Given the description of an element on the screen output the (x, y) to click on. 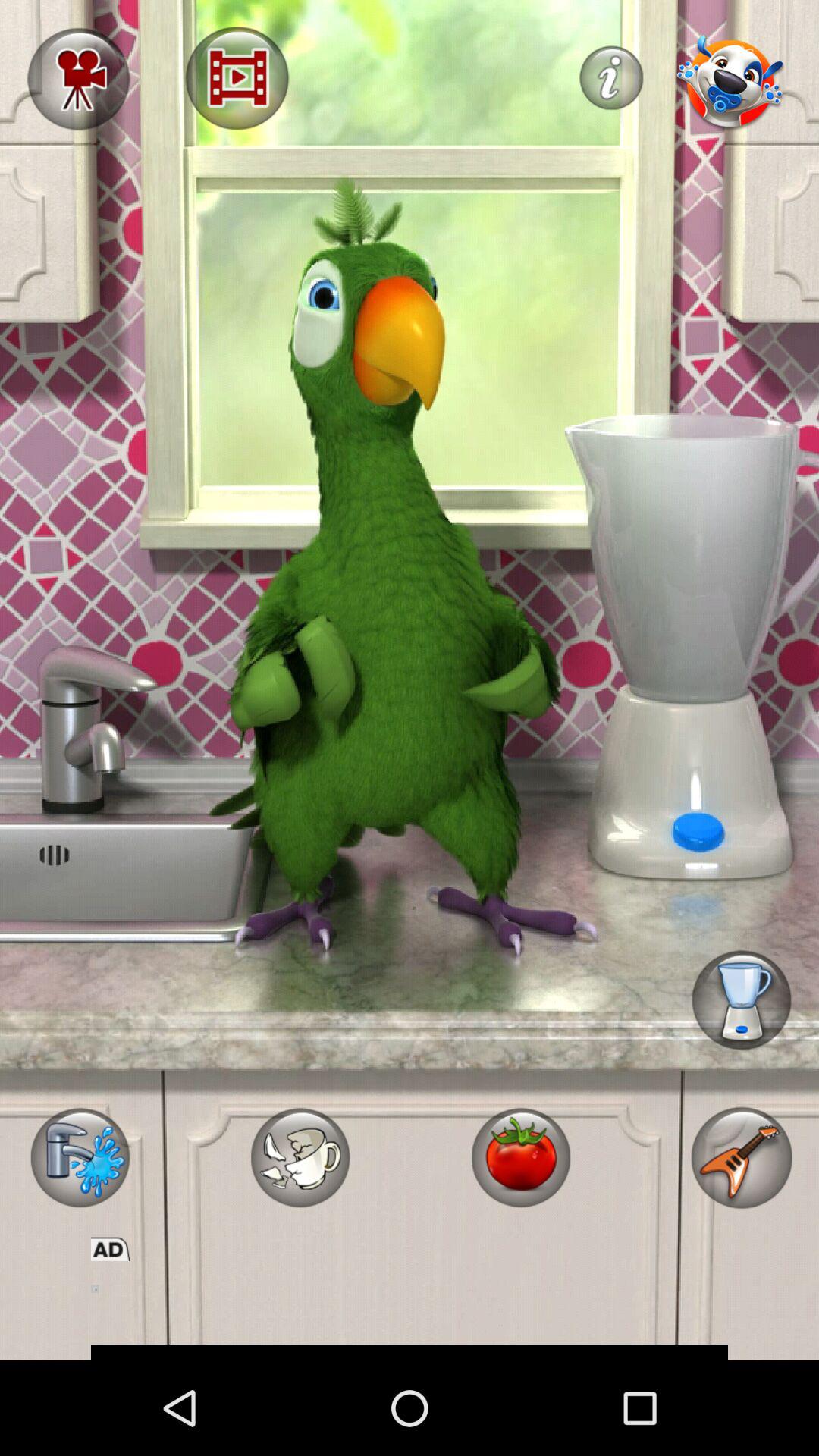
click advertisement (409, 1310)
